Given the description of an element on the screen output the (x, y) to click on. 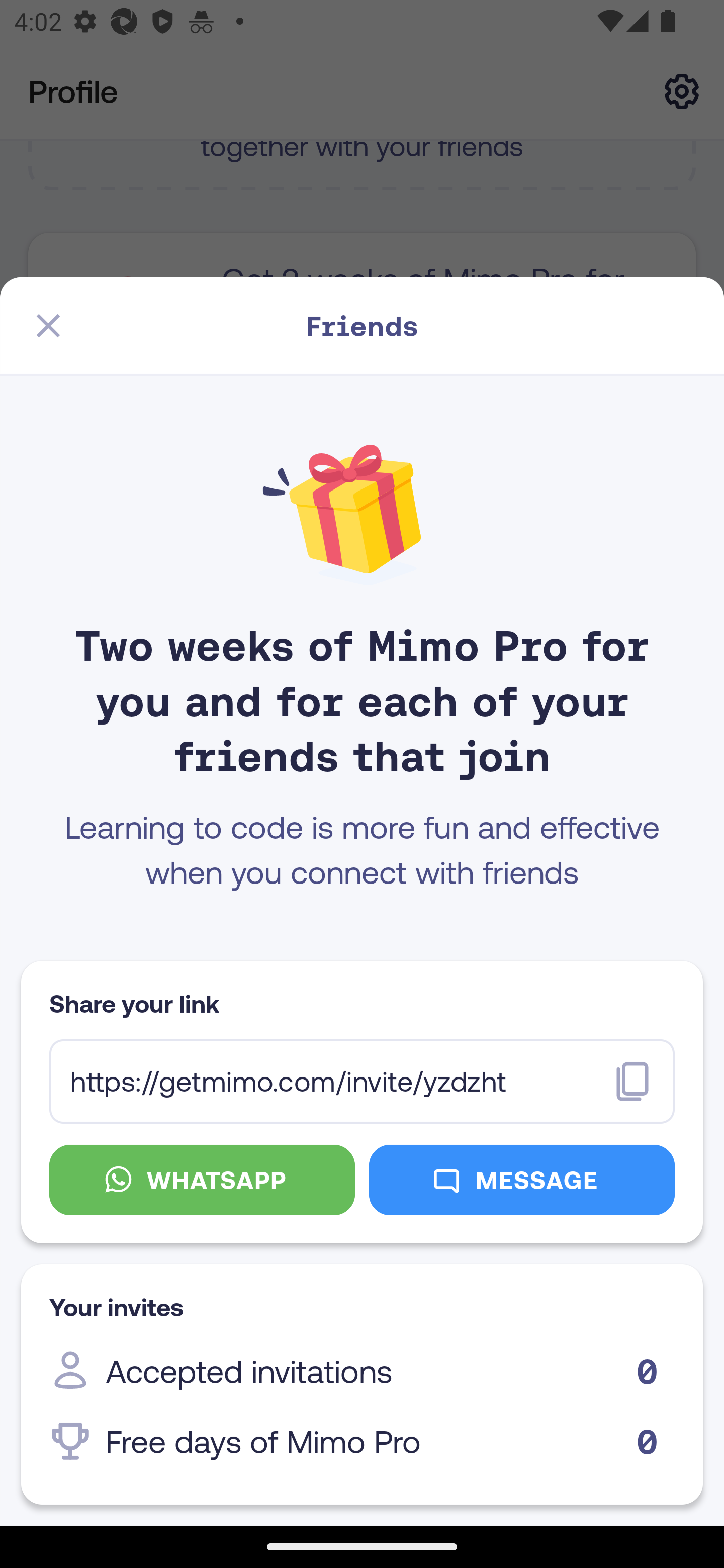
Close (47, 325)
https://getmimo.com/invite/yzdzht (361, 1081)
WHATSAPP (201, 1179)
MESSAGE (521, 1179)
